Given the description of an element on the screen output the (x, y) to click on. 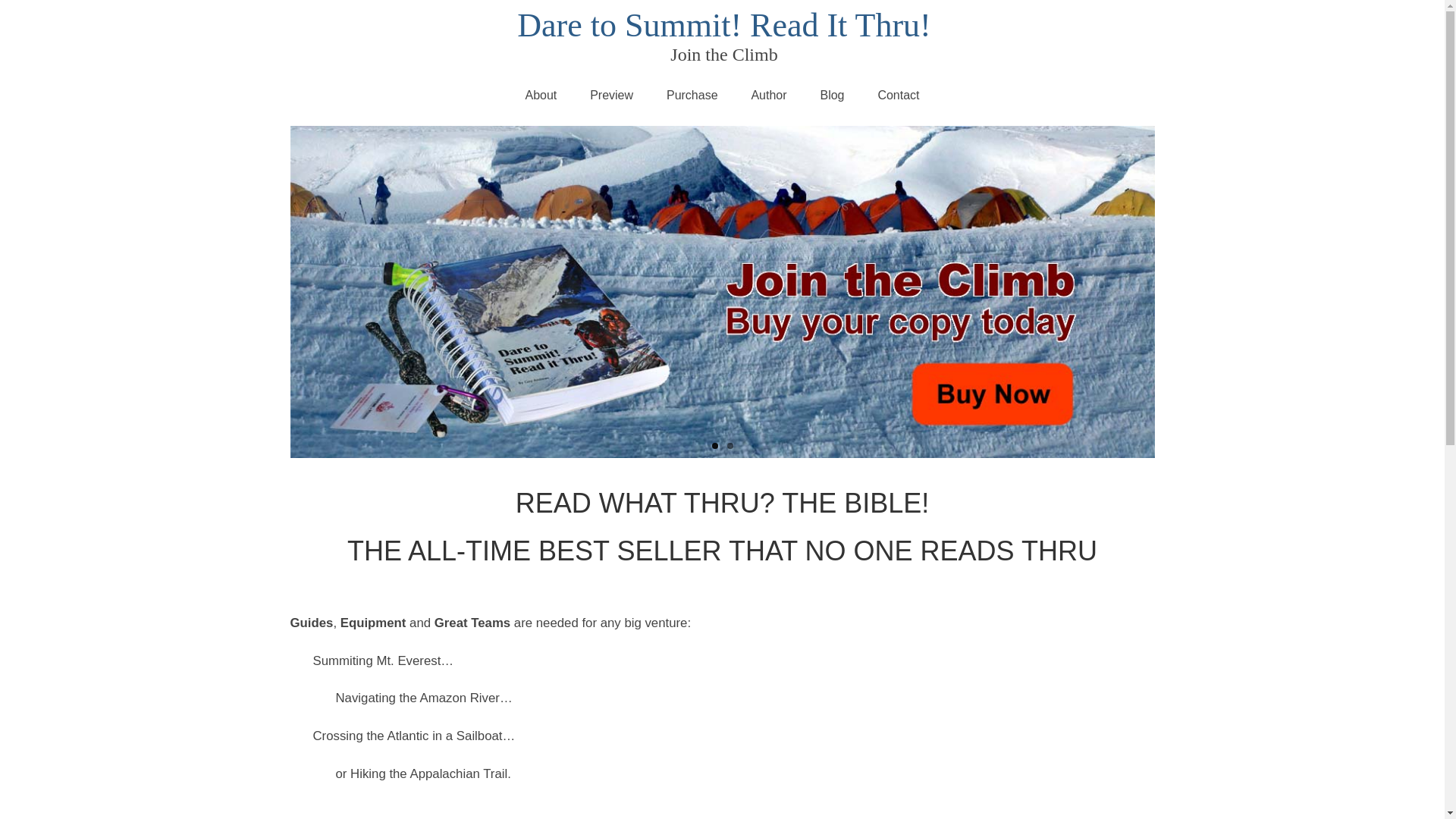
Purchase (691, 95)
Preview (611, 95)
Contact (897, 95)
Dare to Summit! Read It Thru! (723, 25)
1 (714, 445)
Blog (832, 95)
About (540, 95)
2 (729, 445)
Author (768, 95)
